Given the description of an element on the screen output the (x, y) to click on. 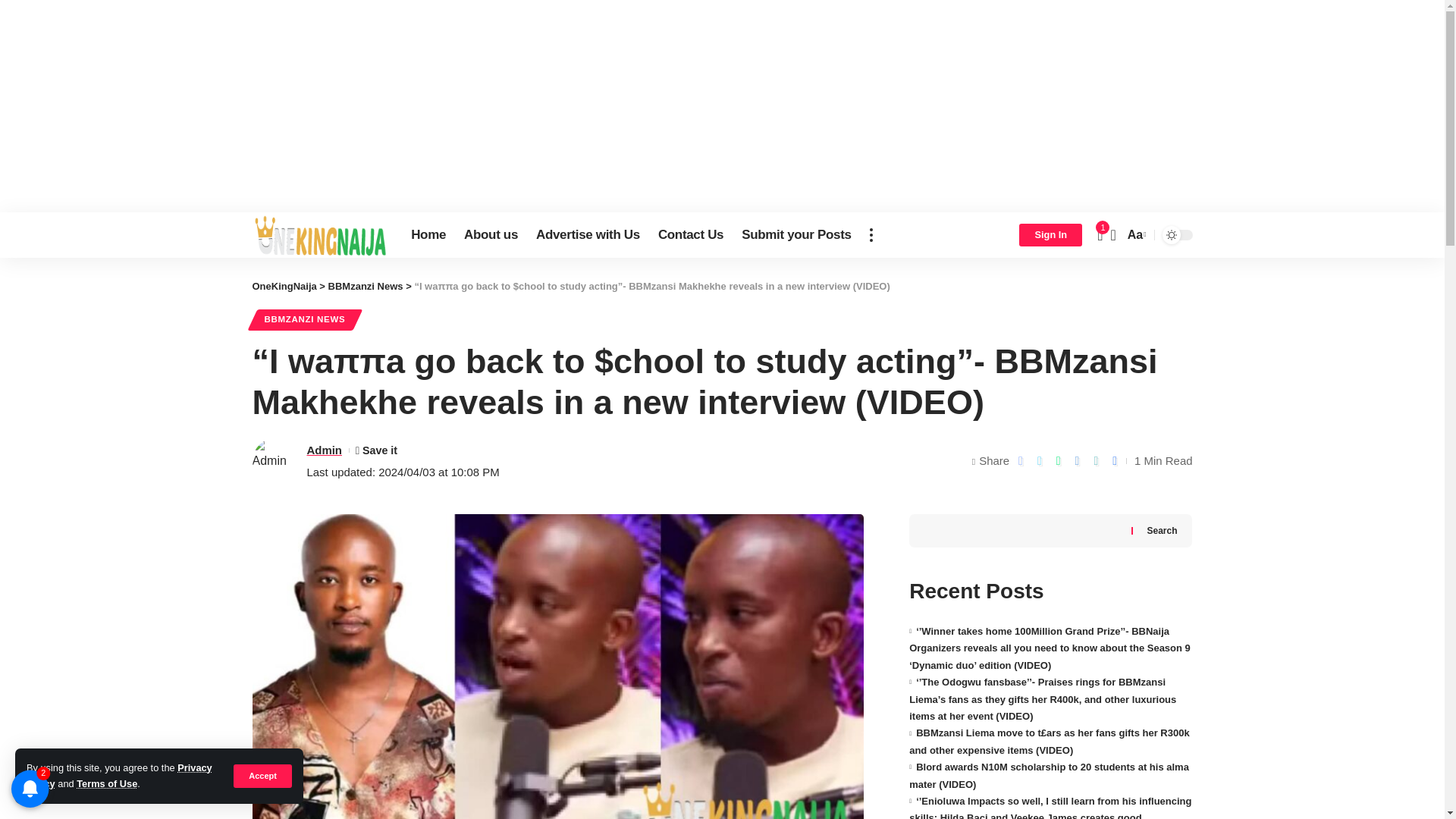
BBMzanzi News (366, 285)
Submit your Posts (796, 234)
Aa (1135, 234)
BBMZANZI NEWS (303, 319)
Terms of Use (106, 783)
Contact Us (690, 234)
Accept (262, 775)
Sign In (1050, 234)
Home (427, 234)
Privacy Policy (119, 775)
About us (490, 234)
Go to OneKingNaija. (283, 285)
OneKingNaija (283, 285)
Go to the BBMzanzi News Category archives. (366, 285)
